Given the description of an element on the screen output the (x, y) to click on. 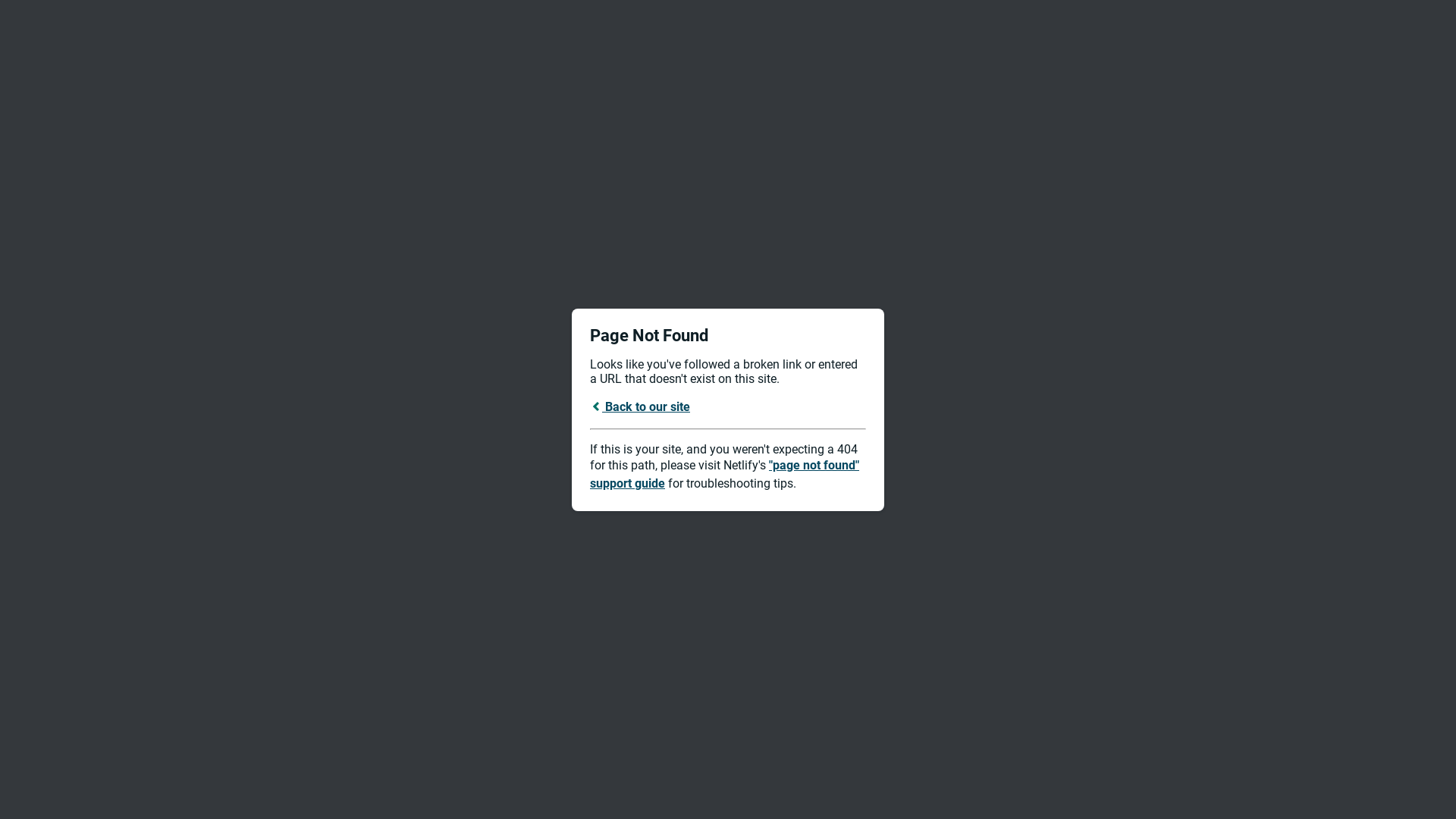
Back to our site Element type: text (639, 405)
"page not found" support guide Element type: text (724, 474)
